Given the description of an element on the screen output the (x, y) to click on. 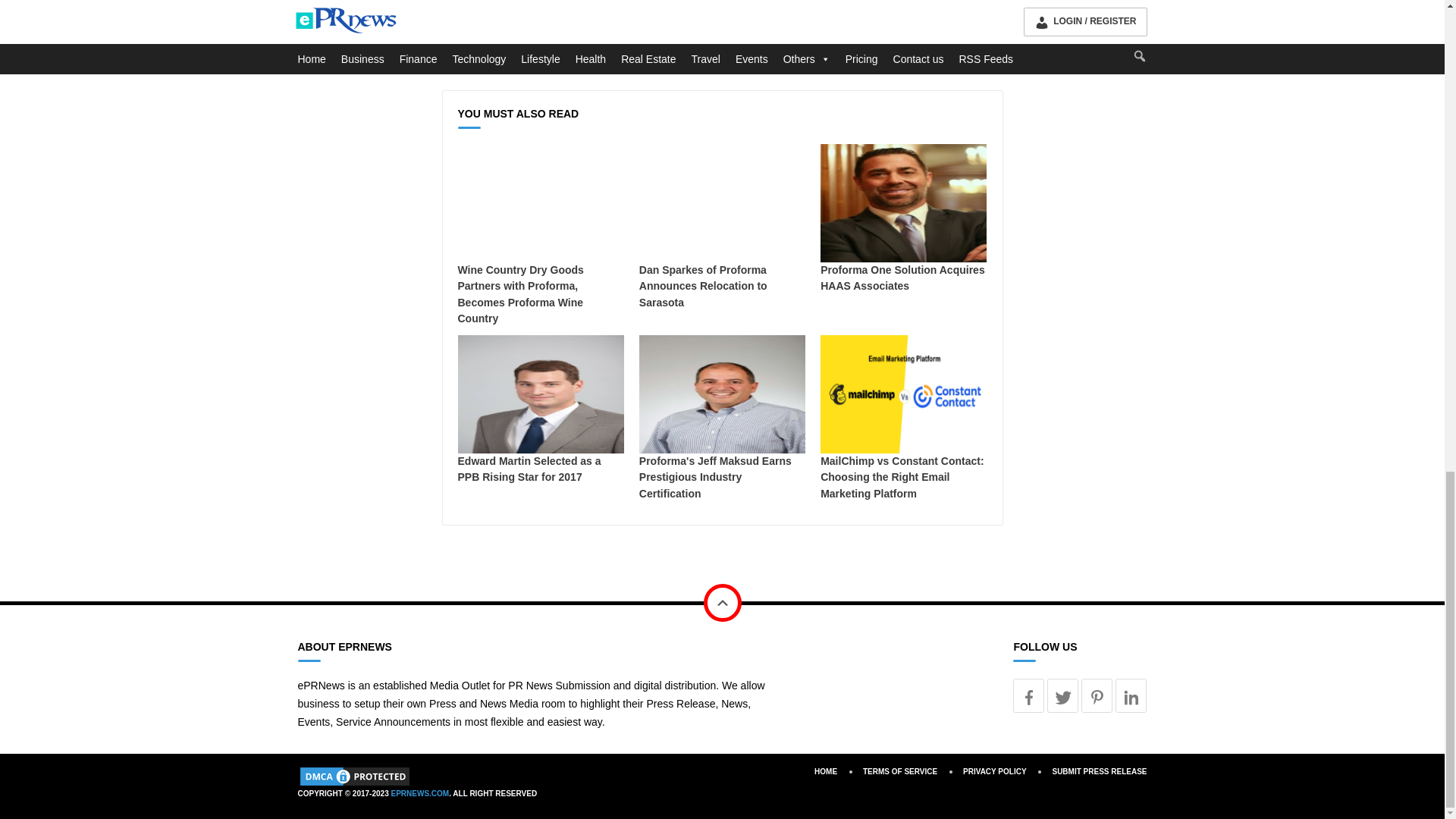
Copy Link (617, 47)
HUMAN RESOURCES (592, 8)
Share on Whatsapp (590, 47)
Pinterest (1096, 695)
Facebook (1028, 695)
Share on Twitter (534, 47)
MARKETING (678, 8)
Twitter (1062, 695)
Share on Linkedin (562, 47)
Linkedin (1130, 695)
DMCA.com Protection Status (353, 775)
Share on Facebook (507, 47)
BRANDING (508, 8)
